Given the description of an element on the screen output the (x, y) to click on. 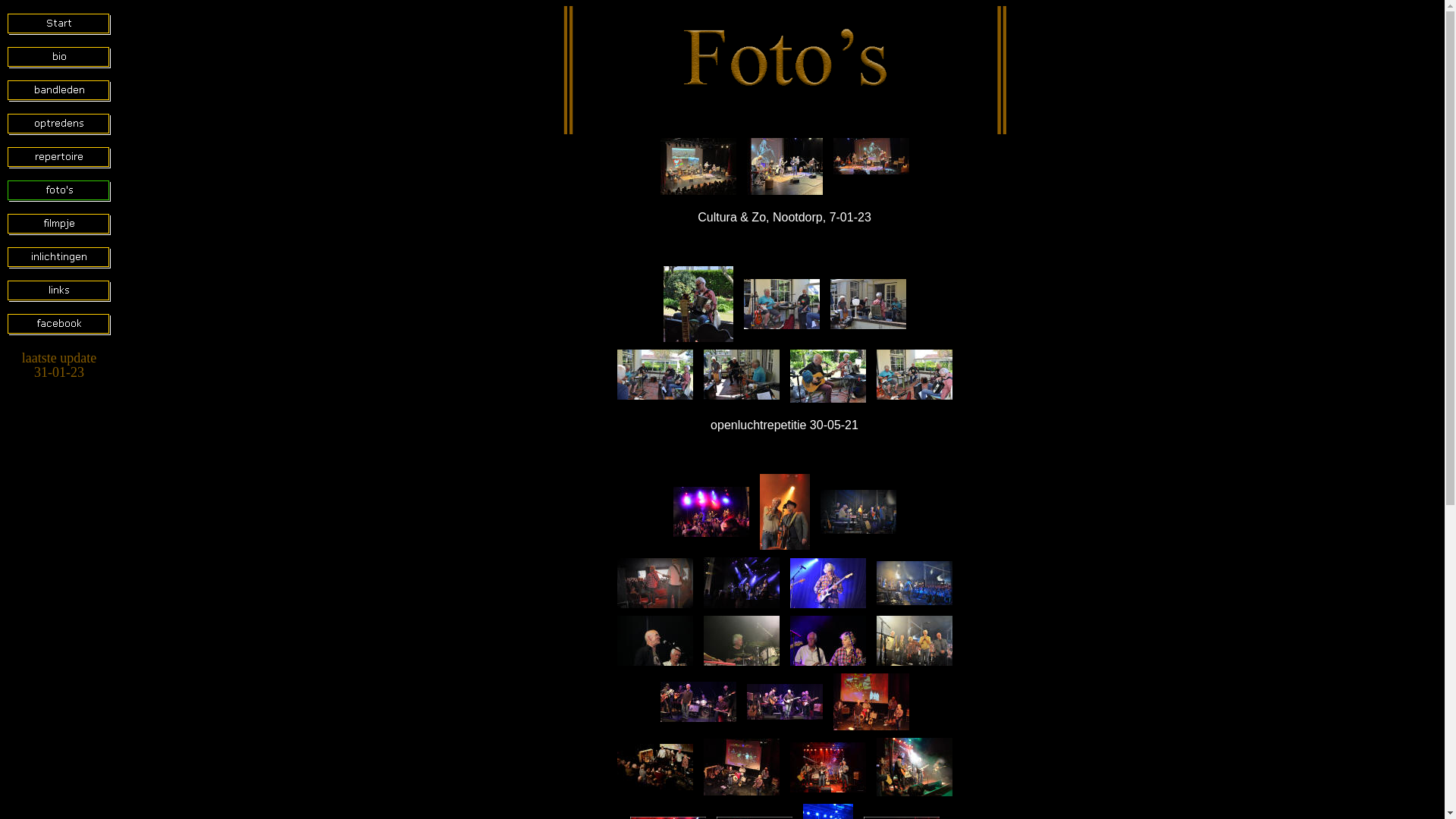
CulturA & Zo, Nootdorp, 07-01-23 Element type: hover (870, 156)
